Given the description of an element on the screen output the (x, y) to click on. 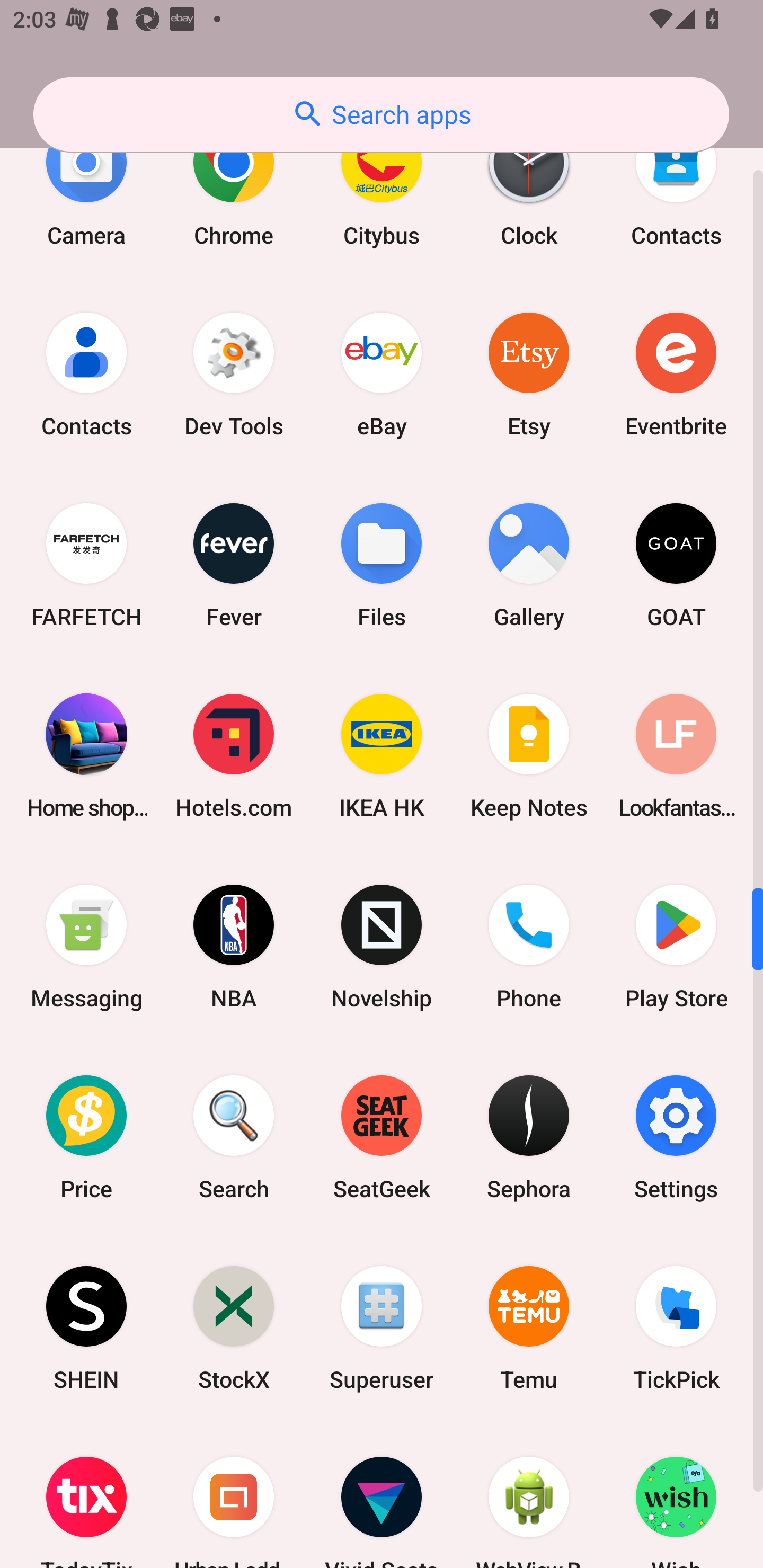
  Search apps (381, 114)
Camera (86, 184)
Chrome (233, 184)
Citybus (381, 184)
Clock (528, 184)
Contacts (676, 184)
Contacts (86, 374)
Dev Tools (233, 374)
eBay (381, 374)
Etsy (528, 374)
Eventbrite (676, 374)
FARFETCH (86, 565)
Fever (233, 565)
Files (381, 565)
Gallery (528, 565)
GOAT (676, 565)
Home shopping (86, 755)
Hotels.com (233, 755)
IKEA HK (381, 755)
Keep Notes (528, 755)
Lookfantastic (676, 755)
Messaging (86, 946)
NBA (233, 946)
Novelship (381, 946)
Phone (528, 946)
Play Store (676, 946)
Price (86, 1137)
Search (233, 1137)
SeatGeek (381, 1137)
Sephora (528, 1137)
Settings (676, 1137)
SHEIN (86, 1327)
StockX (233, 1327)
Superuser (381, 1327)
Temu (528, 1327)
TickPick (676, 1327)
TodayTix (86, 1495)
Urban Ladder (233, 1495)
Vivid Seats (381, 1495)
WebView Browser Tester (528, 1495)
Wish (676, 1495)
